Given the description of an element on the screen output the (x, y) to click on. 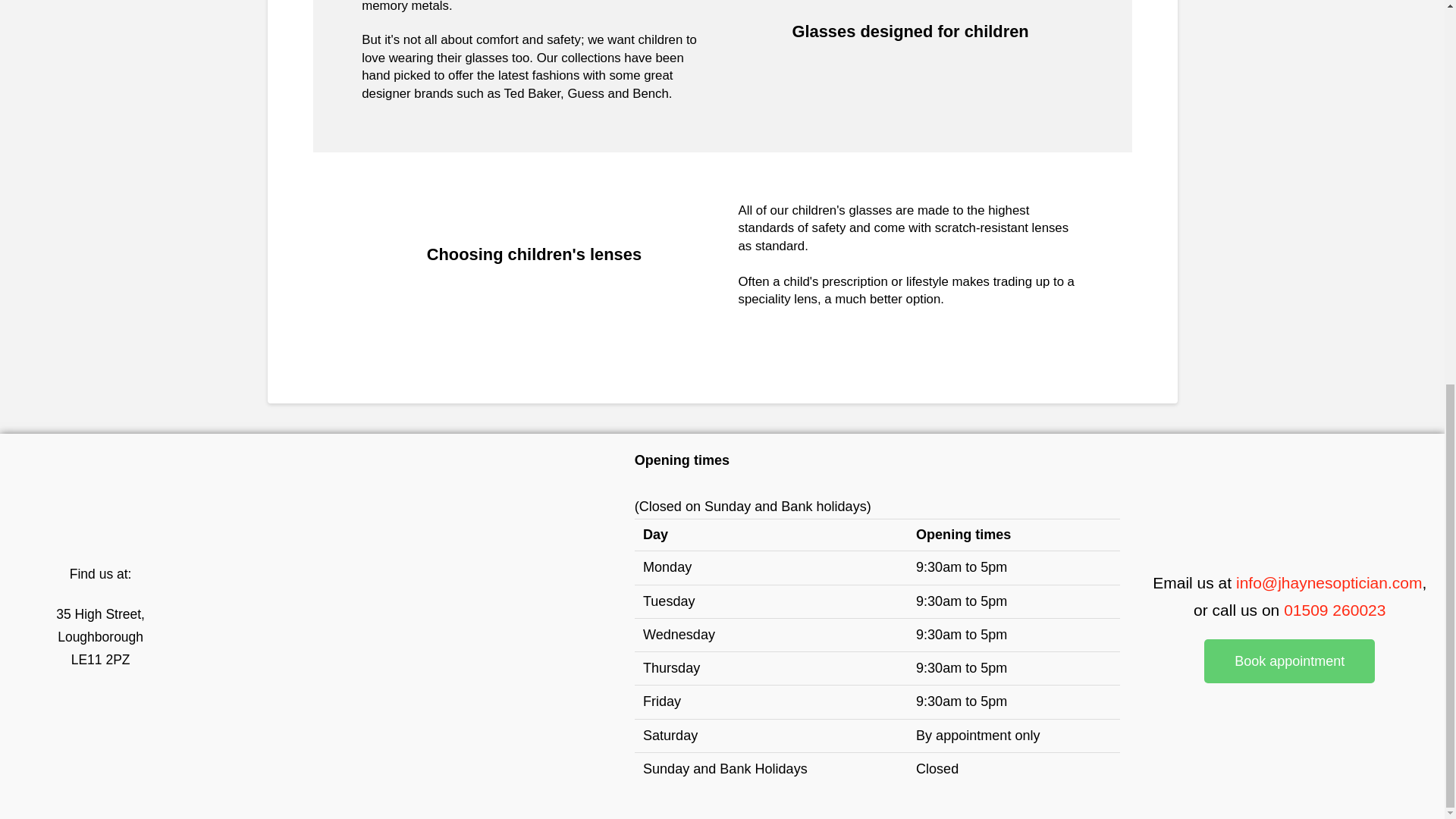
01509 260023 (1335, 610)
Book appointment (1289, 661)
35 high Street, LE11 2PZ (409, 625)
